Given the description of an element on the screen output the (x, y) to click on. 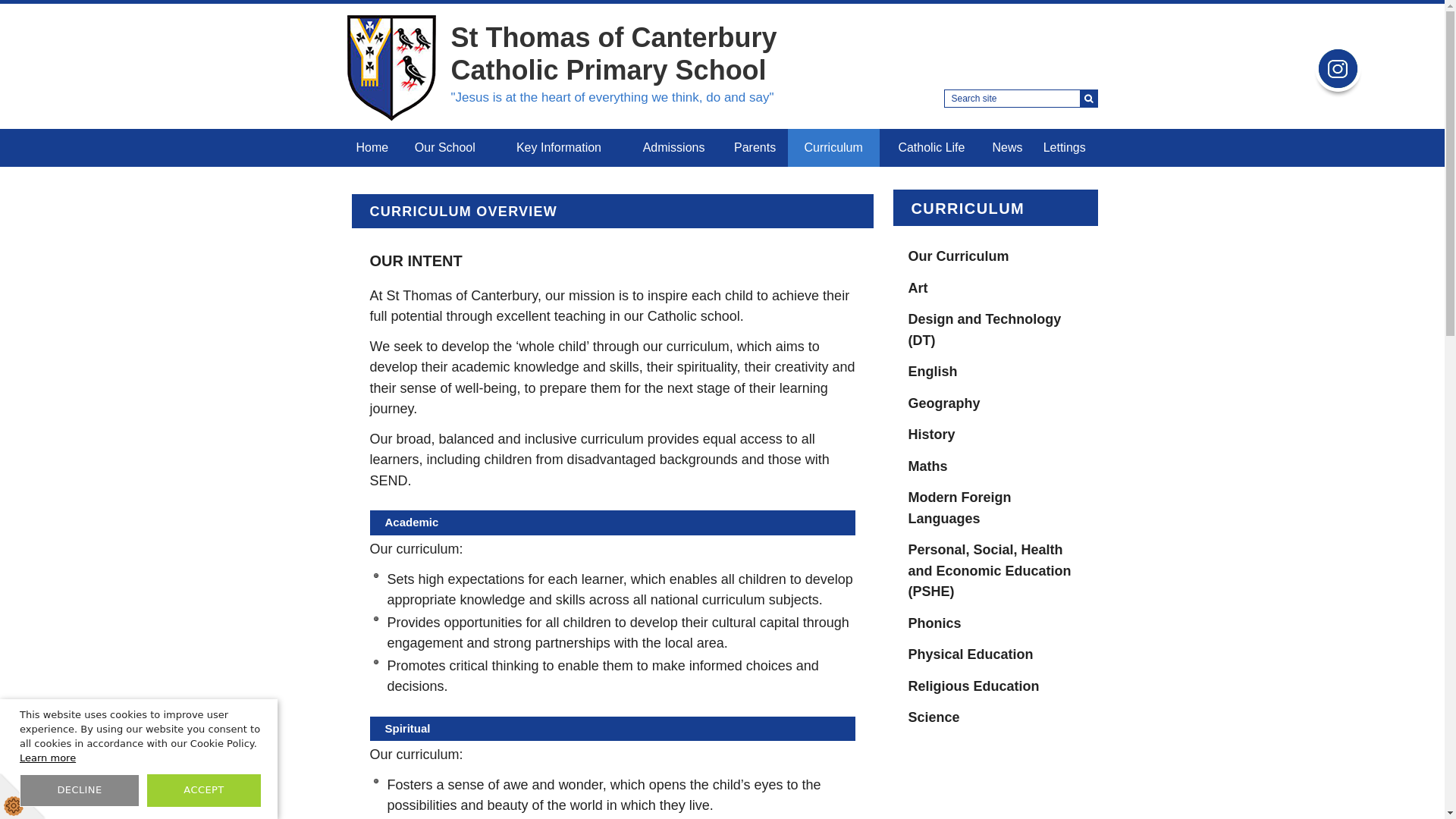
Curriculum (833, 147)
Parents (754, 147)
Admissions (674, 147)
Home (372, 147)
Search site (1020, 98)
Our School (444, 147)
Key Information (558, 147)
